Given the description of an element on the screen output the (x, y) to click on. 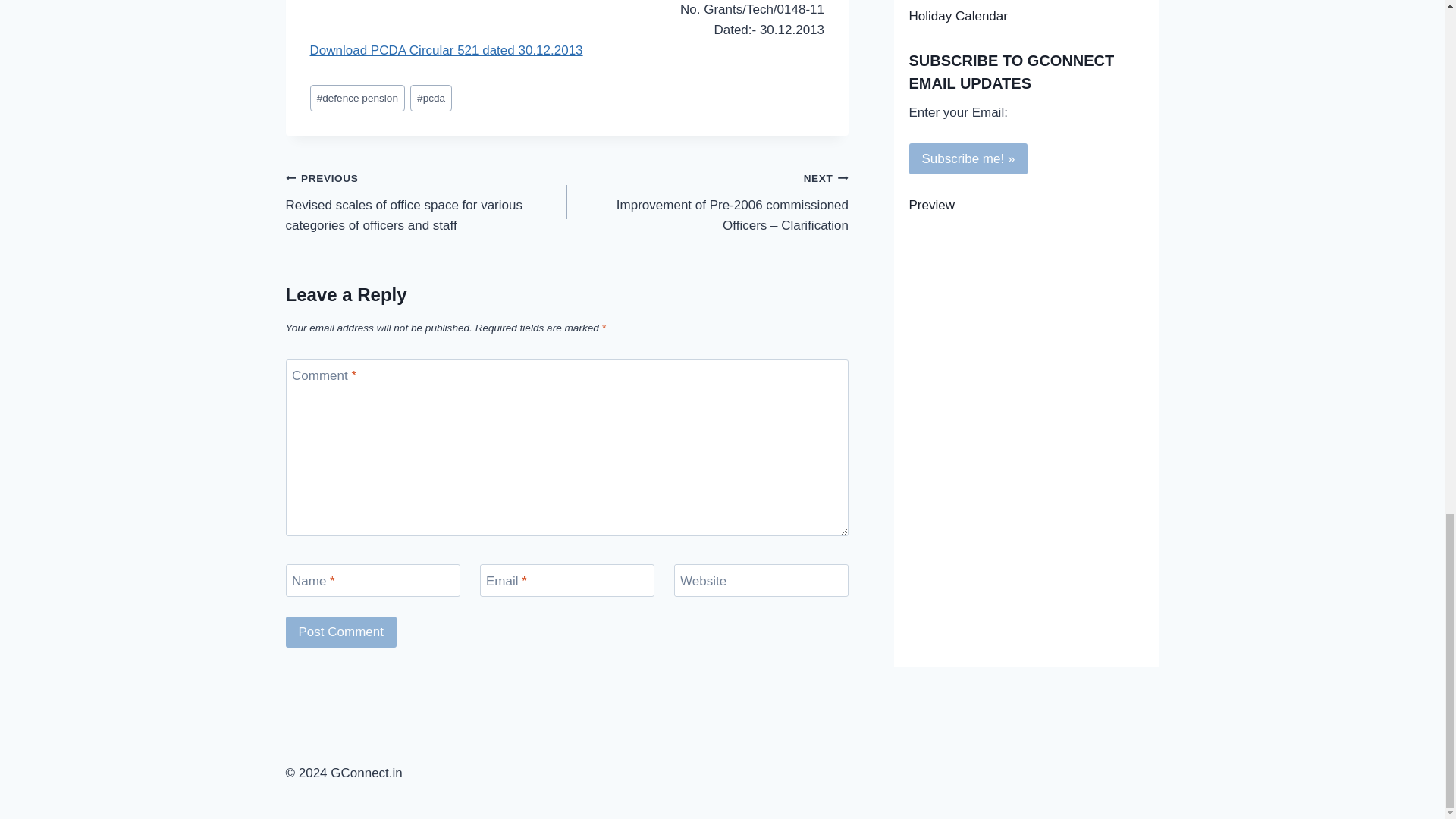
Post Comment (340, 631)
pcda (430, 98)
DA Calculator for Central Government Employees (1025, 2)
Post Comment (340, 631)
Download PCDA Circular 521 dated 30.12.2013 (445, 50)
defence pension (356, 98)
